Given the description of an element on the screen output the (x, y) to click on. 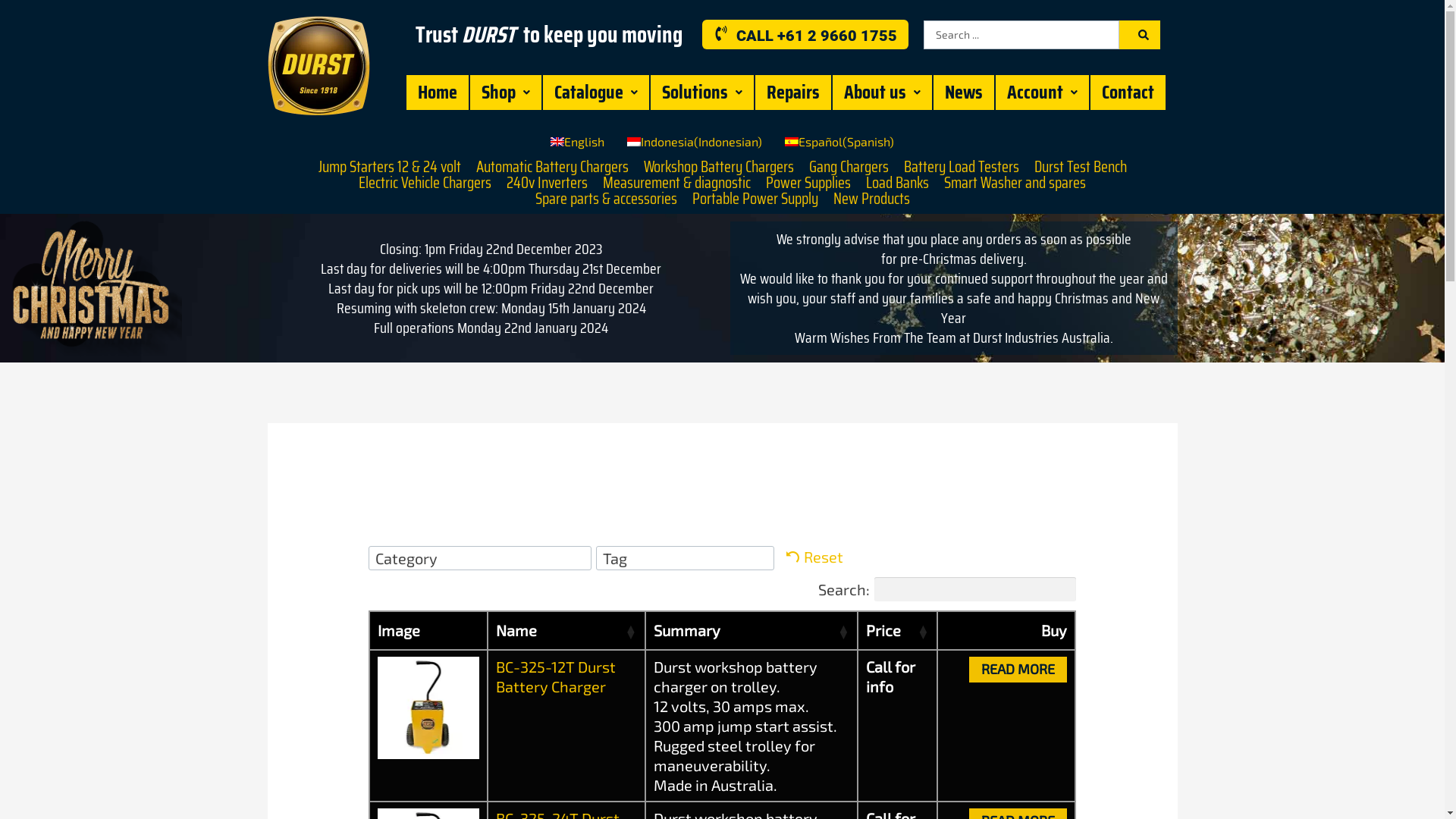
Automatic Battery Chargers Element type: text (552, 167)
240v Inverters Element type: text (546, 183)
Durst Test Bench Element type: text (1080, 167)
Home Element type: text (437, 92)
Indonesia
(Indonesian) Element type: text (694, 141)
Spare parts & accessories Element type: text (605, 199)
Workshop Battery Chargers Element type: text (717, 167)
Load Banks Element type: text (897, 183)
Catalogue Element type: text (595, 92)
Account Element type: text (1041, 92)
Shop Element type: text (505, 92)
Smart Washer and spares Element type: text (1014, 183)
READ MORE Element type: text (1017, 669)
Contact Element type: text (1127, 92)
CALL +61 2 9660 1755 Element type: text (805, 34)
Portable Power Supply Element type: text (754, 199)
English Element type: text (577, 141)
Jump Starters 12 & 24 volt Element type: text (389, 167)
Repairs Element type: text (793, 92)
BC-325-12T Durst Battery Charger Element type: text (555, 676)
Power Supplies Element type: text (808, 183)
Measurement & diagnostic Element type: text (676, 183)
New Products Element type: text (870, 199)
BC-325-12T-s Element type: hover (428, 707)
Solutions Element type: text (701, 92)
Electric Vehicle Chargers Element type: text (424, 183)
About us Element type: text (881, 92)
Battery Load Testers Element type: text (961, 167)
Gang Chargers Element type: text (847, 167)
Reset Element type: text (814, 556)
News Element type: text (963, 92)
